Given the description of an element on the screen output the (x, y) to click on. 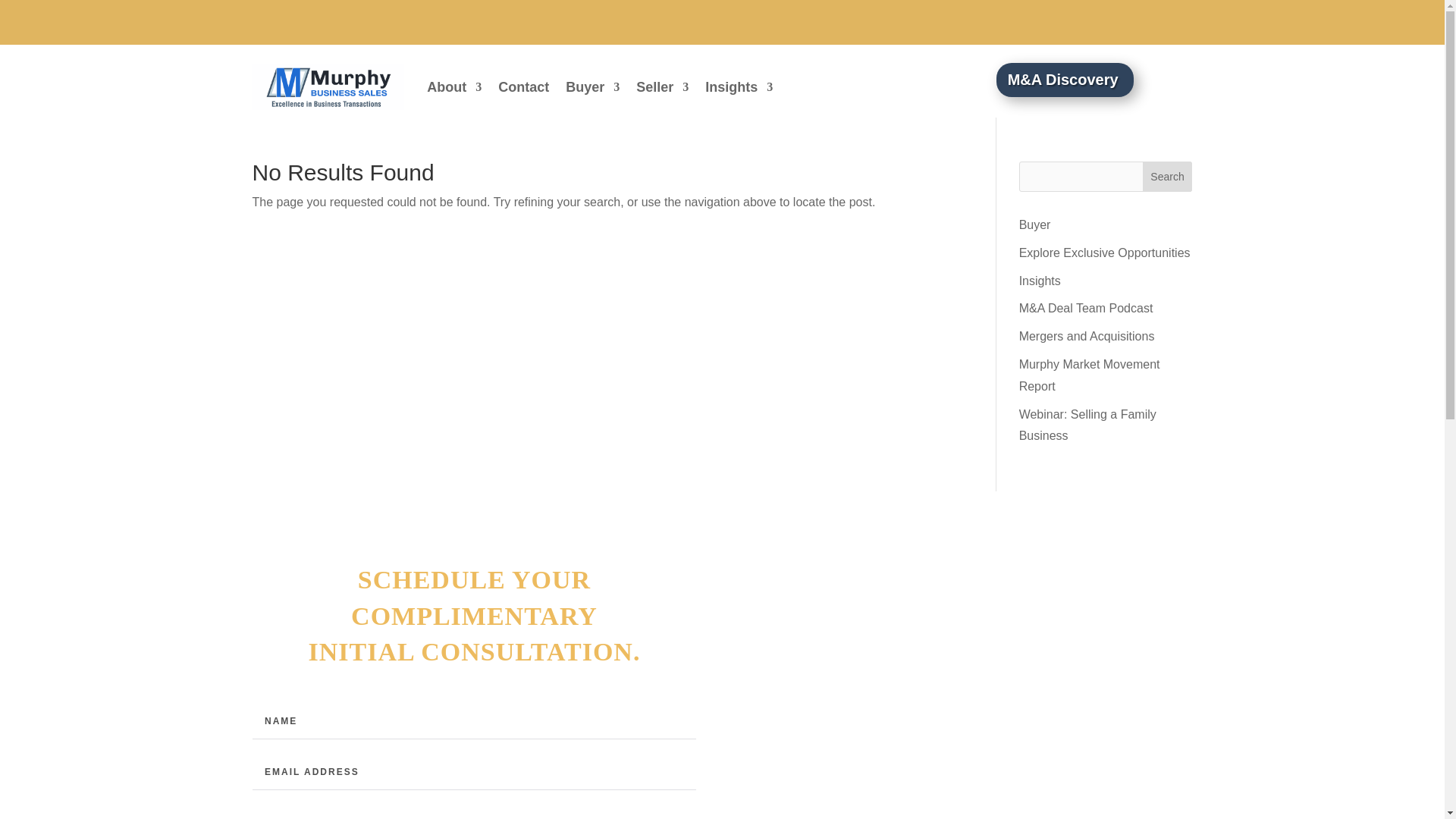
Mergers and Acquisitions (1086, 336)
Explore Exclusive Opportunities (1105, 252)
Webinar: Selling a Family Business (1087, 425)
About (453, 87)
Seller (662, 87)
Murphy Market Movement Report (1089, 375)
Buyer (593, 87)
Insights (1040, 280)
Insights (738, 87)
Buyer (1035, 224)
